Given the description of an element on the screen output the (x, y) to click on. 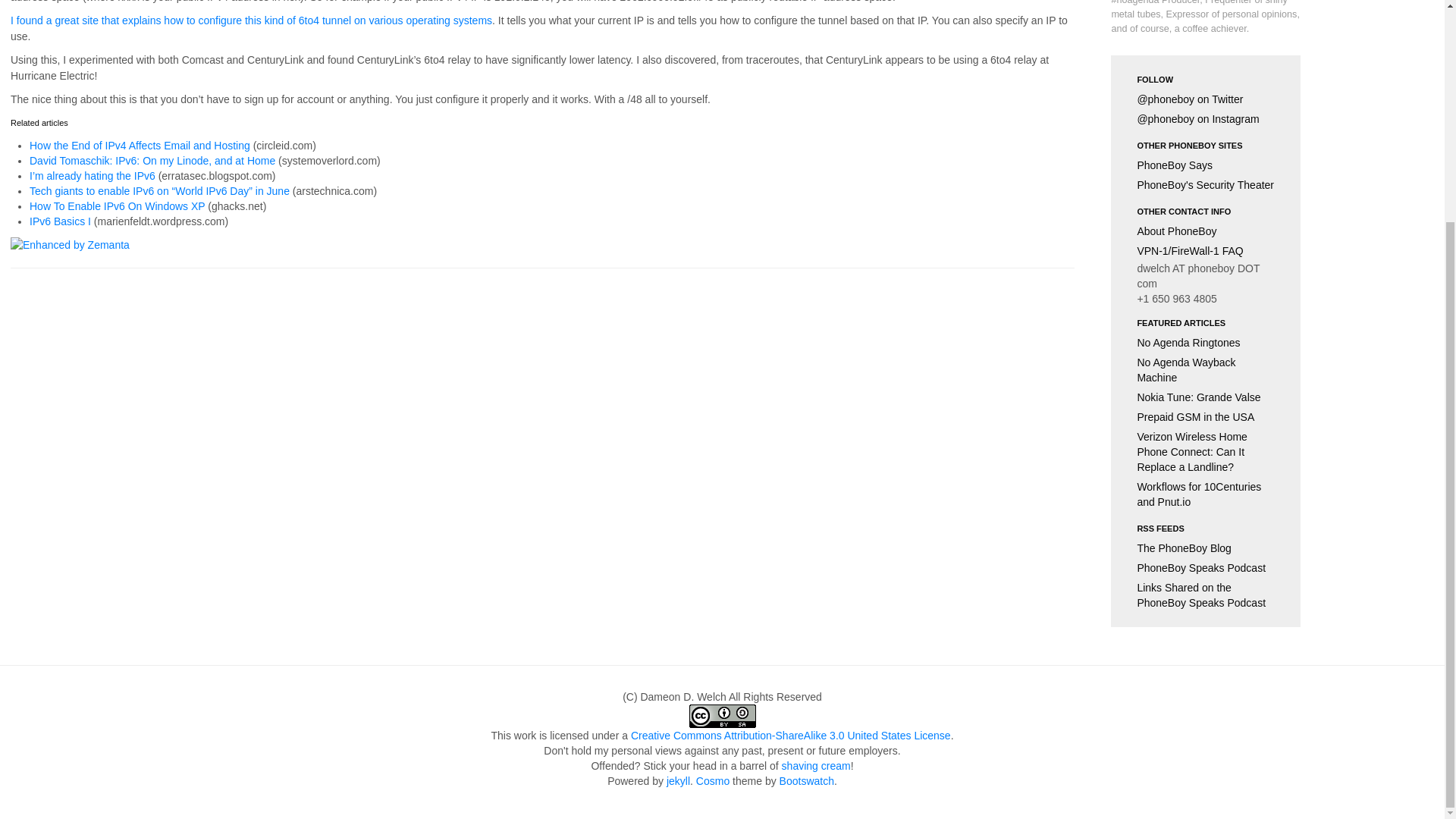
IPv6 Basics I (59, 221)
No Agenda Ringtones (1205, 342)
PhoneBoy's Security Theater (1205, 184)
Workflows for 10Centuries and Pnut.io (1205, 493)
Links Shared on the PhoneBoy Speaks Podcast (1205, 595)
The PhoneBoy Blog (1205, 547)
Enhanced by Zemanta (69, 244)
How the End of IPv4 Affects Email and Hosting (139, 145)
Nokia Tune: Grande Valse (1205, 397)
PhoneBoy Says (1205, 165)
Cosmo (712, 780)
PhoneBoy Speaks Podcast (1205, 567)
